Given the description of an element on the screen output the (x, y) to click on. 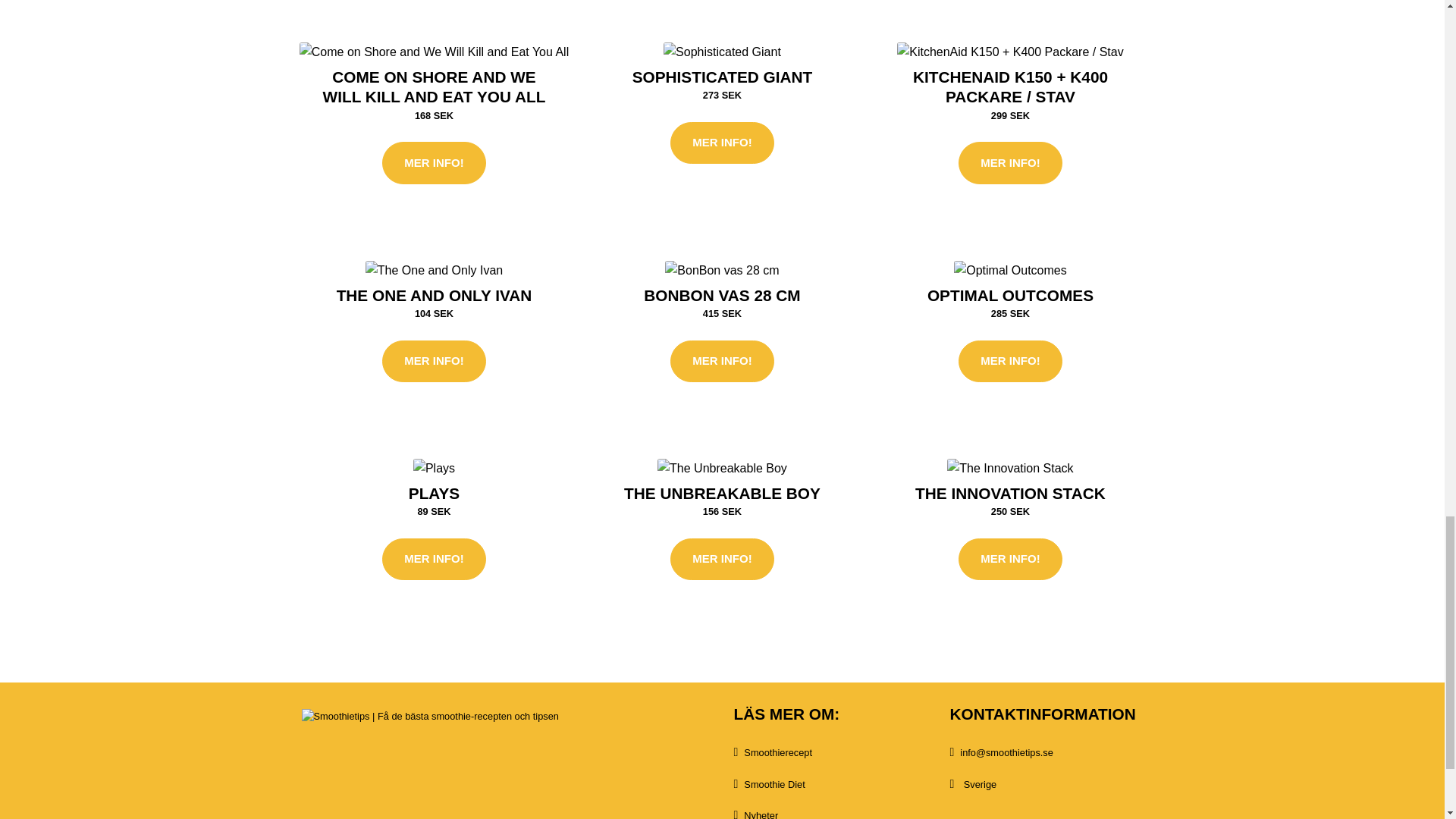
COME ON SHORE AND WE WILL KILL AND EAT YOU ALL (434, 86)
SOPHISTICATED GIANT (721, 76)
MER INFO! (432, 162)
